Given the description of an element on the screen output the (x, y) to click on. 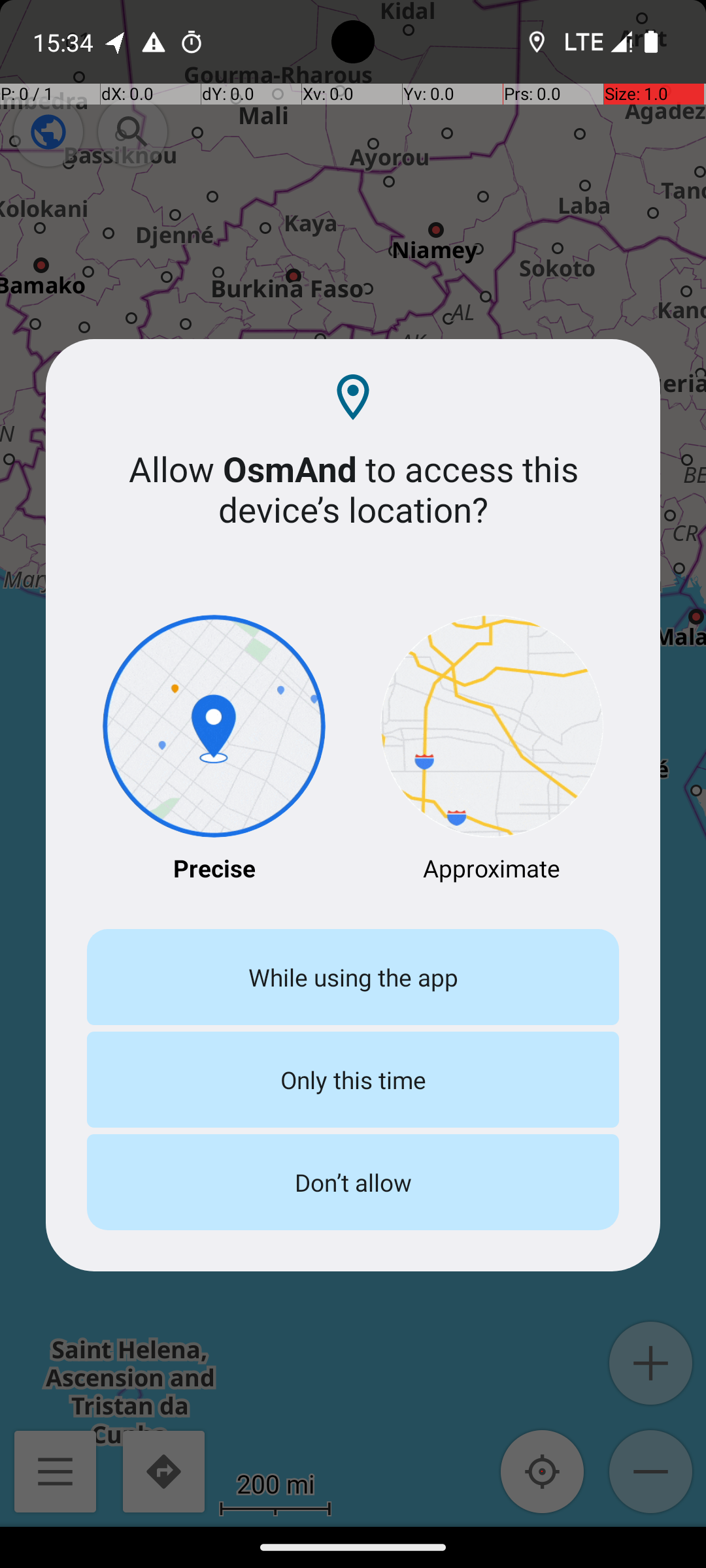
Allow OsmAnd to access this device’s location? Element type: android.widget.TextView (352, 488)
While using the app Element type: android.widget.Button (352, 977)
Only this time Element type: android.widget.Button (352, 1079)
Don’t allow Element type: android.widget.Button (352, 1182)
Precise Element type: android.widget.RadioButton (213, 749)
Approximate Element type: android.widget.RadioButton (491, 749)
OpenTracks notification: Distance: 8.20 mi Element type: android.widget.ImageView (115, 41)
